Given the description of an element on the screen output the (x, y) to click on. 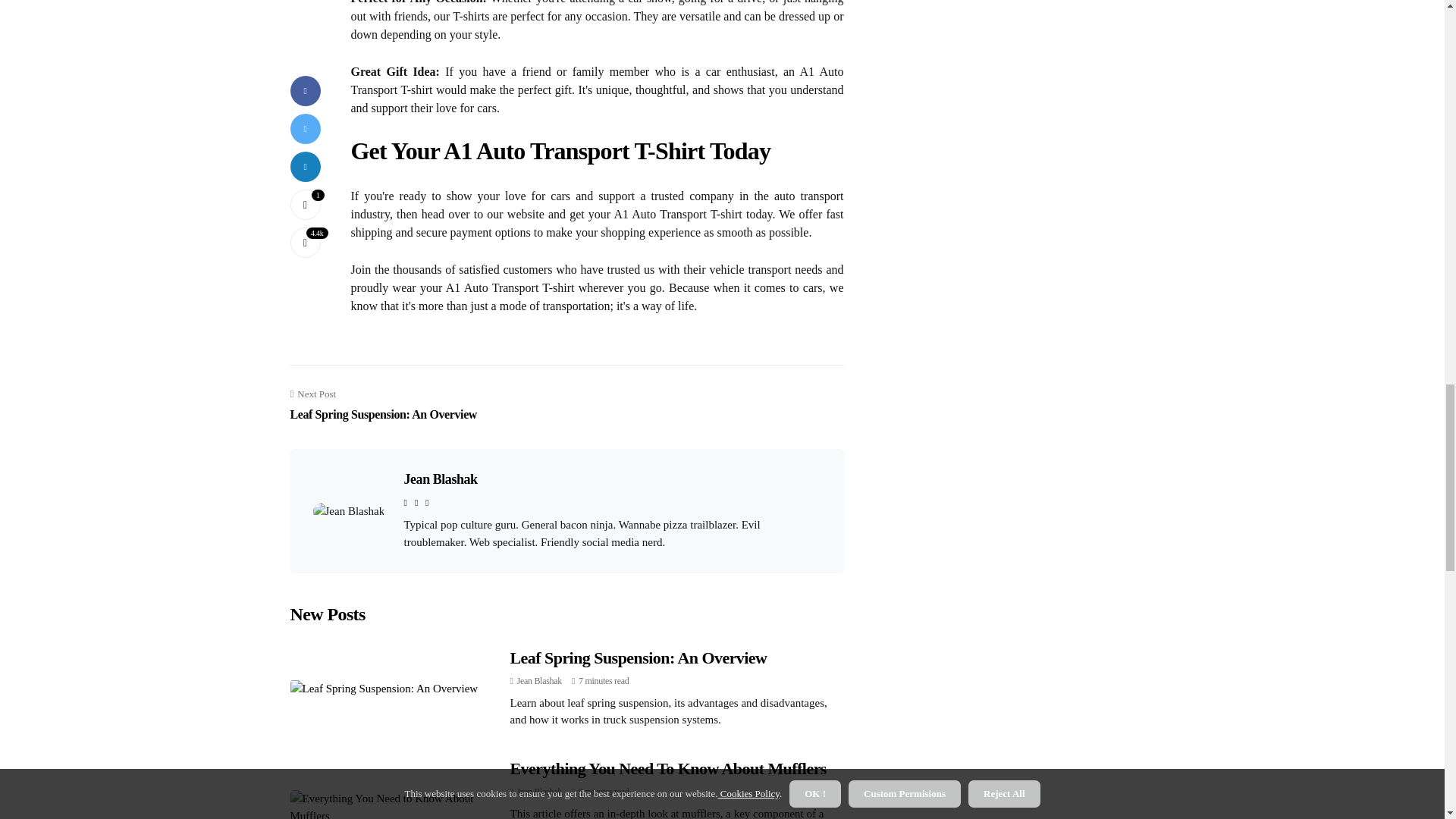
Posts by Jean Blashak (539, 791)
Posts by Jean Blashak (539, 680)
